Given the description of an element on the screen output the (x, y) to click on. 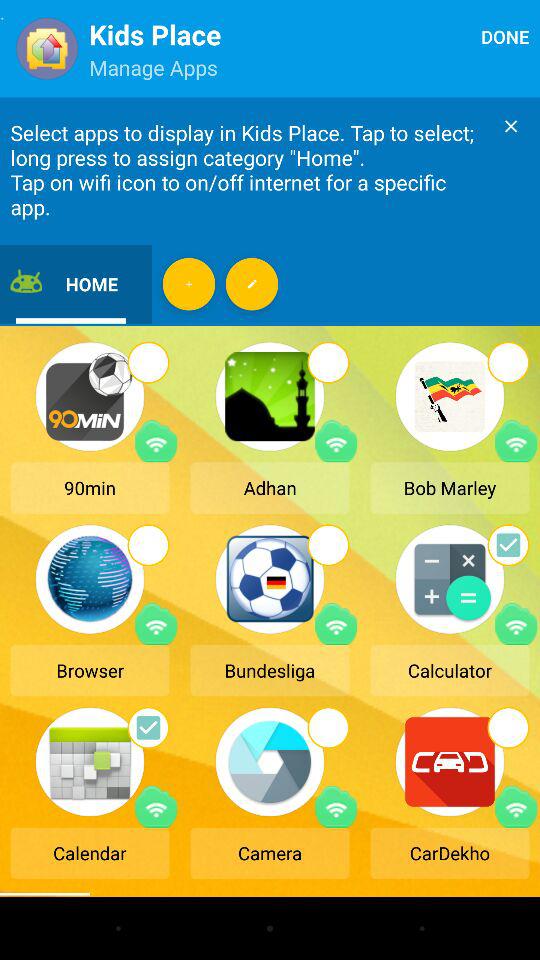
hkide apps (251, 284)
